Given the description of an element on the screen output the (x, y) to click on. 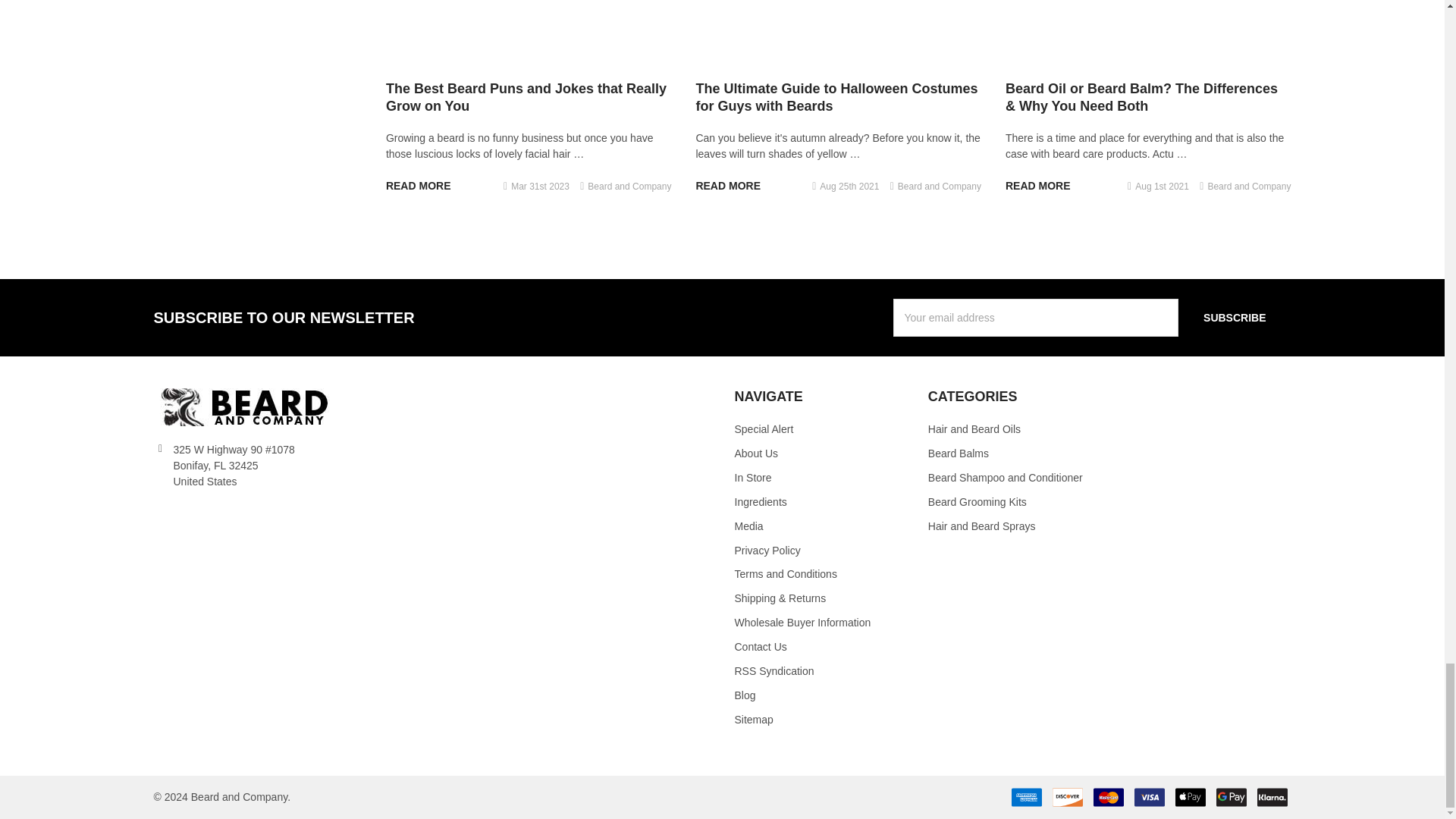
The Best Beard Puns and Jokes that Really Grow on You (528, 32)
Subscribe (1233, 317)
BEARD AND COMPANY (247, 406)
